Given the description of an element on the screen output the (x, y) to click on. 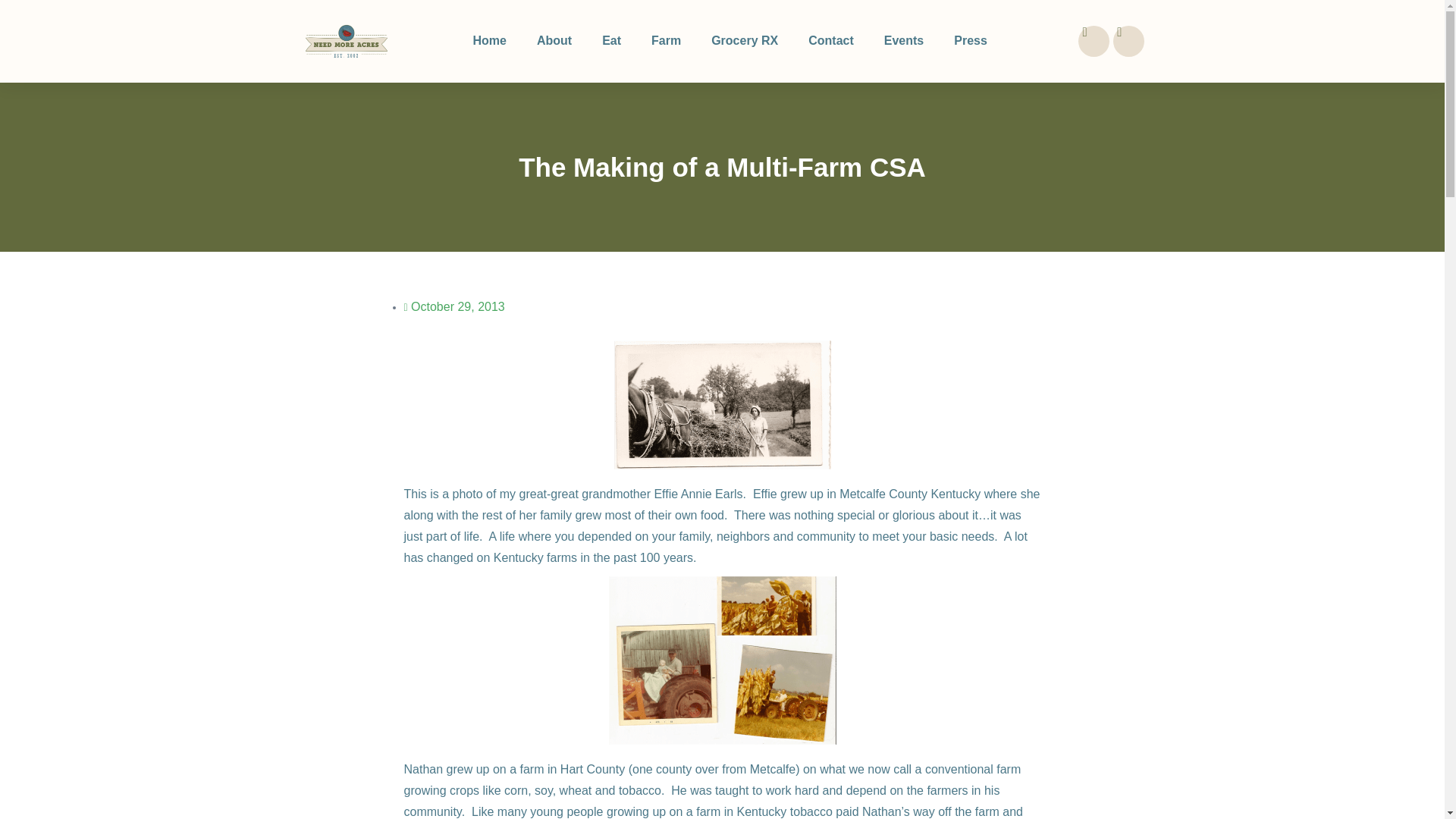
Home (489, 40)
October 29, 2013 (453, 306)
Events (904, 40)
Grocery RX (744, 40)
Farm (665, 40)
About (553, 40)
Contact (831, 40)
Eat (611, 40)
Press (971, 40)
